Given the description of an element on the screen output the (x, y) to click on. 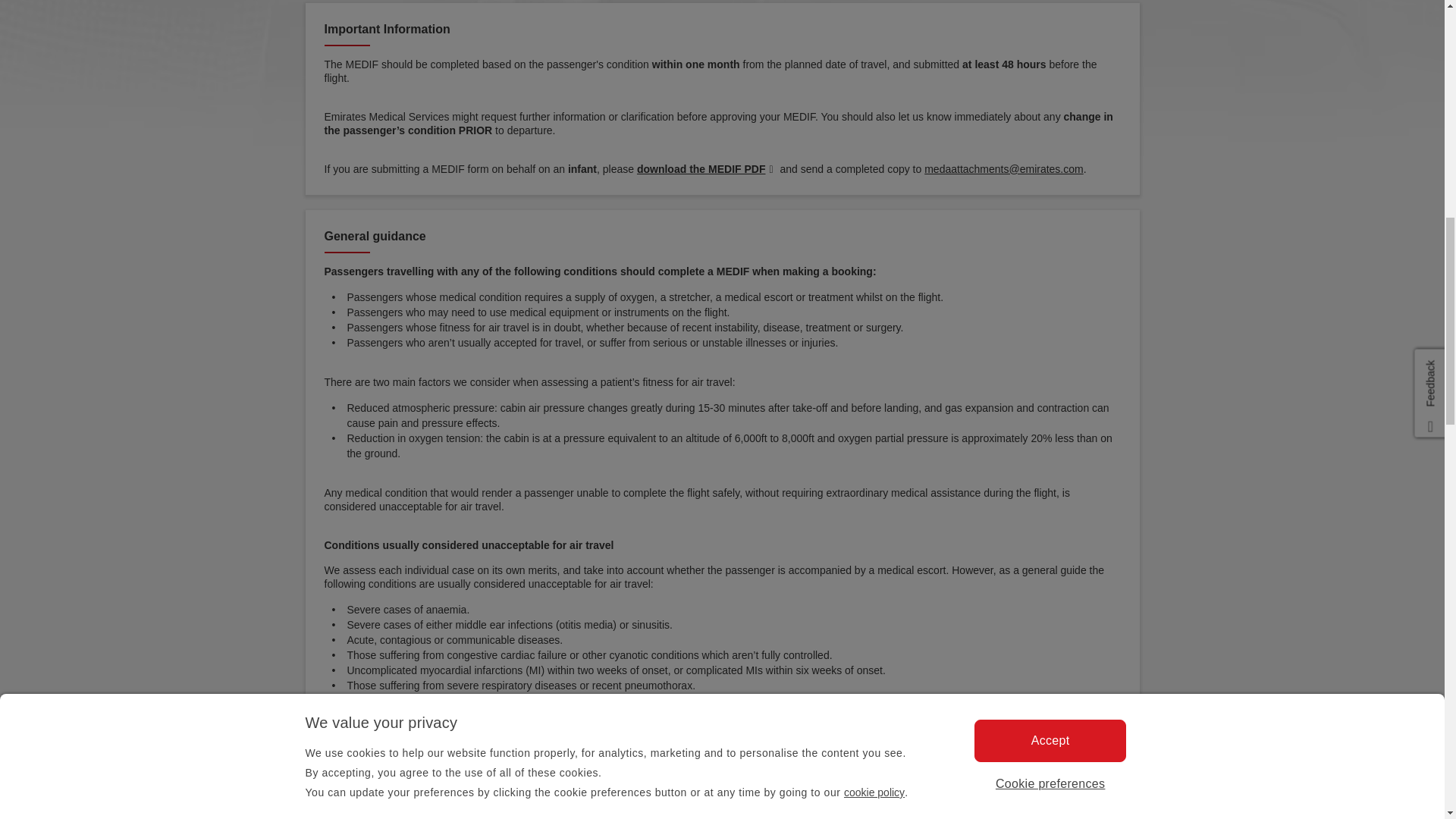
emirates-medif-form.pdf (707, 168)
